Given the description of an element on the screen output the (x, y) to click on. 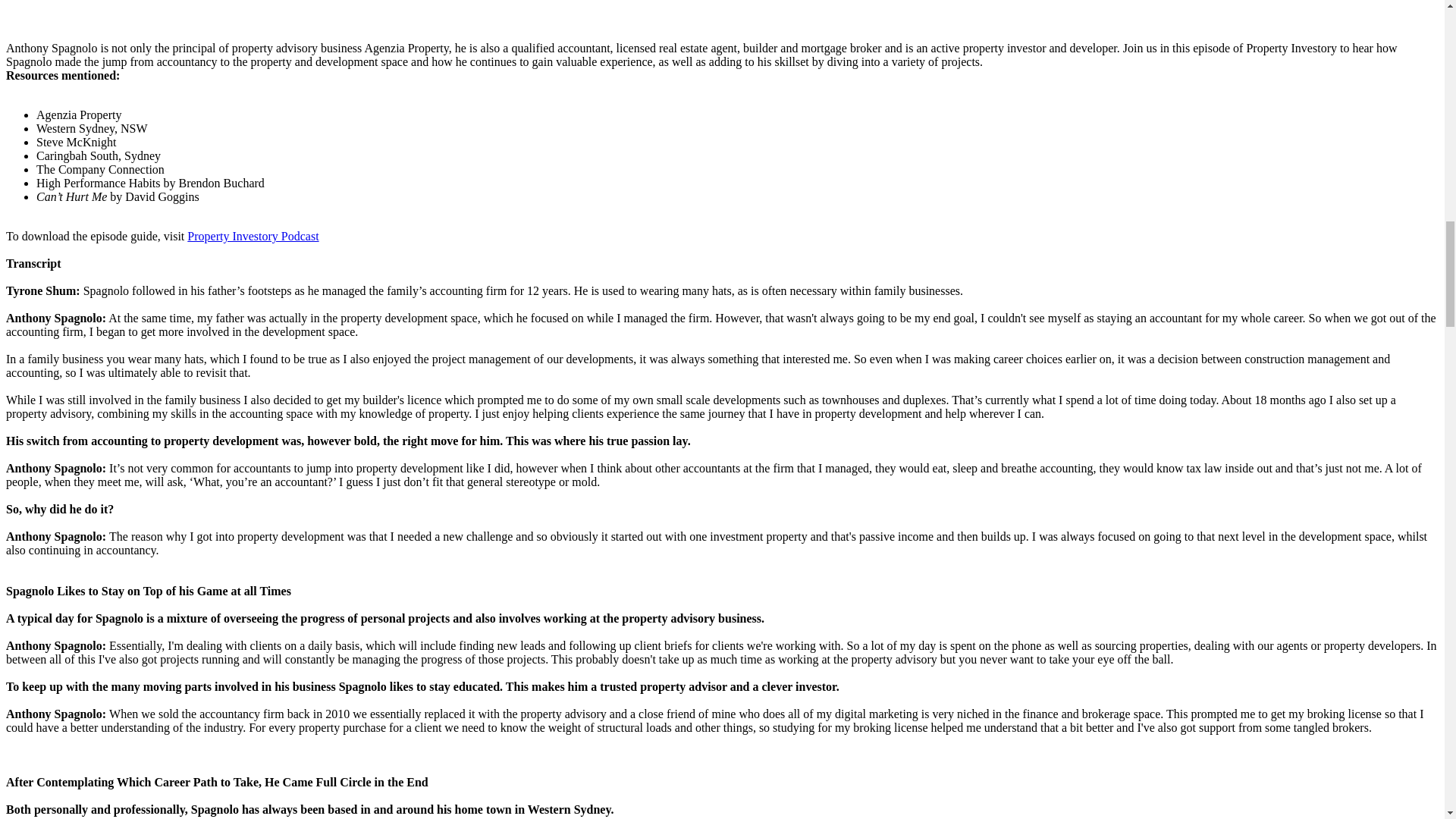
Property Investory Podcast (252, 236)
